Given the description of an element on the screen output the (x, y) to click on. 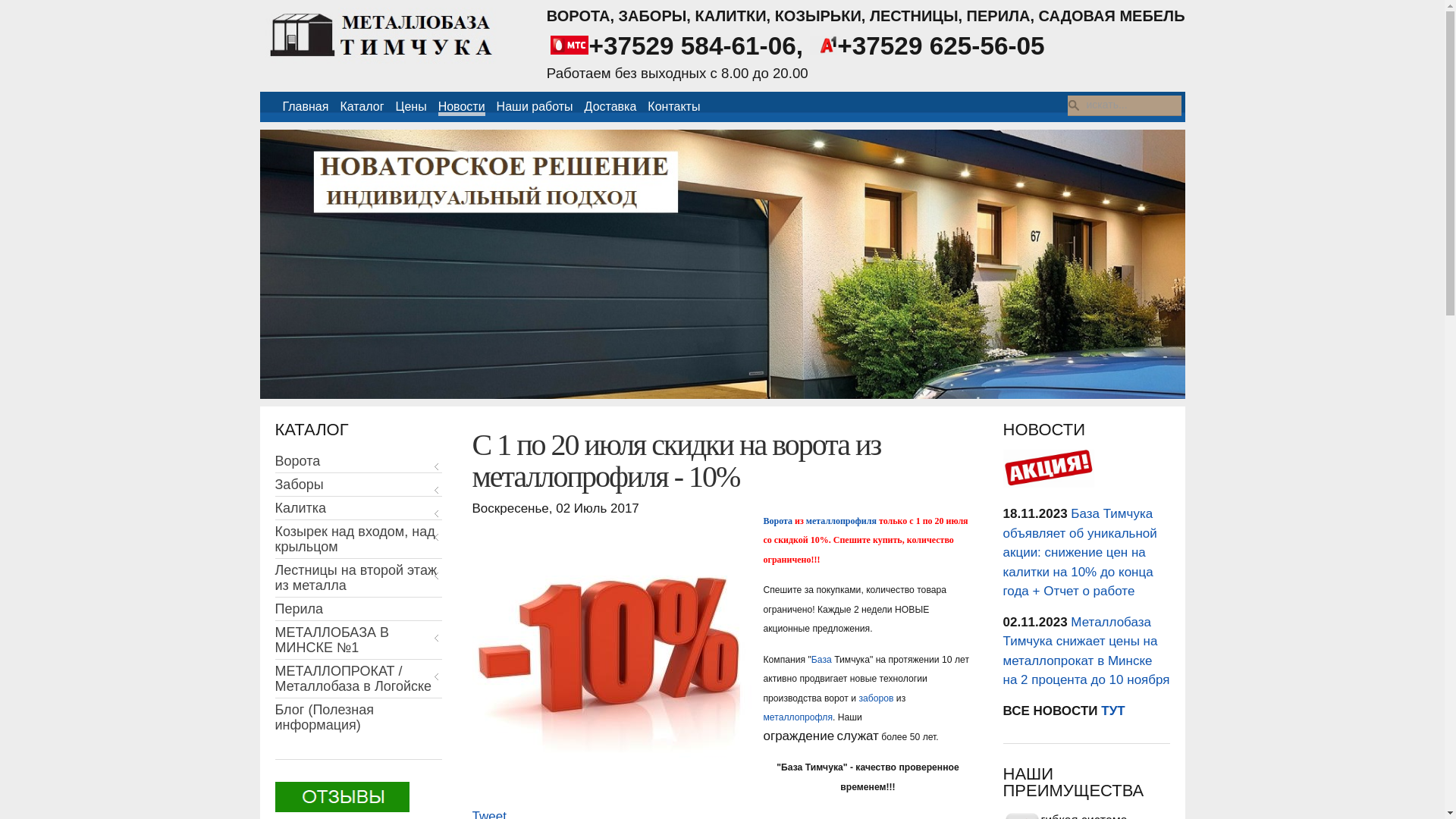
Reset Element type: text (3, 3)
